Given the description of an element on the screen output the (x, y) to click on. 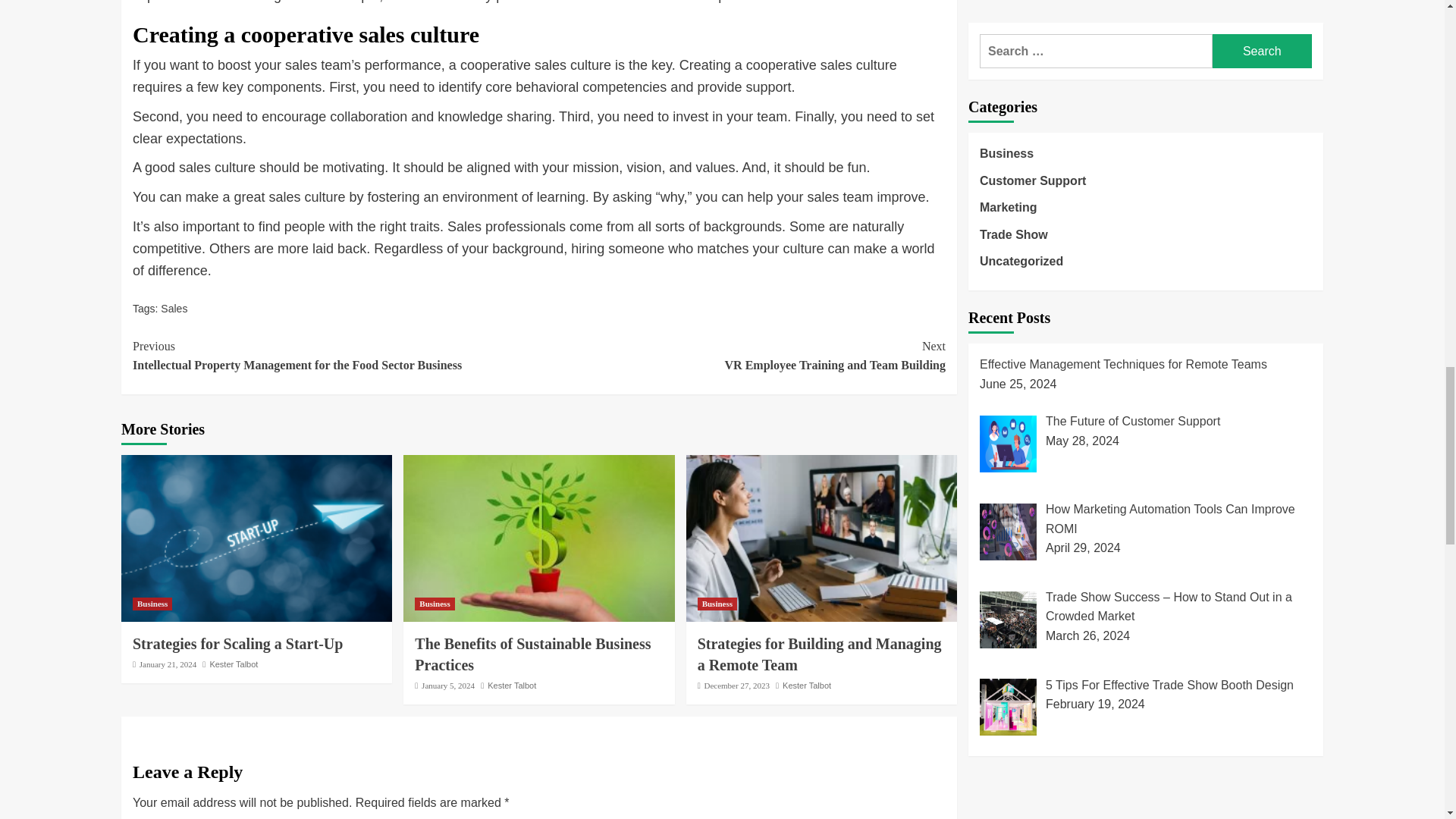
Business (151, 603)
January 5, 2024 (448, 685)
Sales (173, 308)
The Benefits of Sustainable Business Practices (532, 654)
Kester Talbot (511, 685)
December 27, 2023 (735, 685)
Business (716, 603)
Strategies for Scaling a Start-Up (237, 643)
Business (434, 603)
January 21, 2024 (167, 664)
Kester Talbot (741, 355)
Strategies for Building and Managing a Remote Team (807, 685)
Kester Talbot (819, 654)
